Given the description of an element on the screen output the (x, y) to click on. 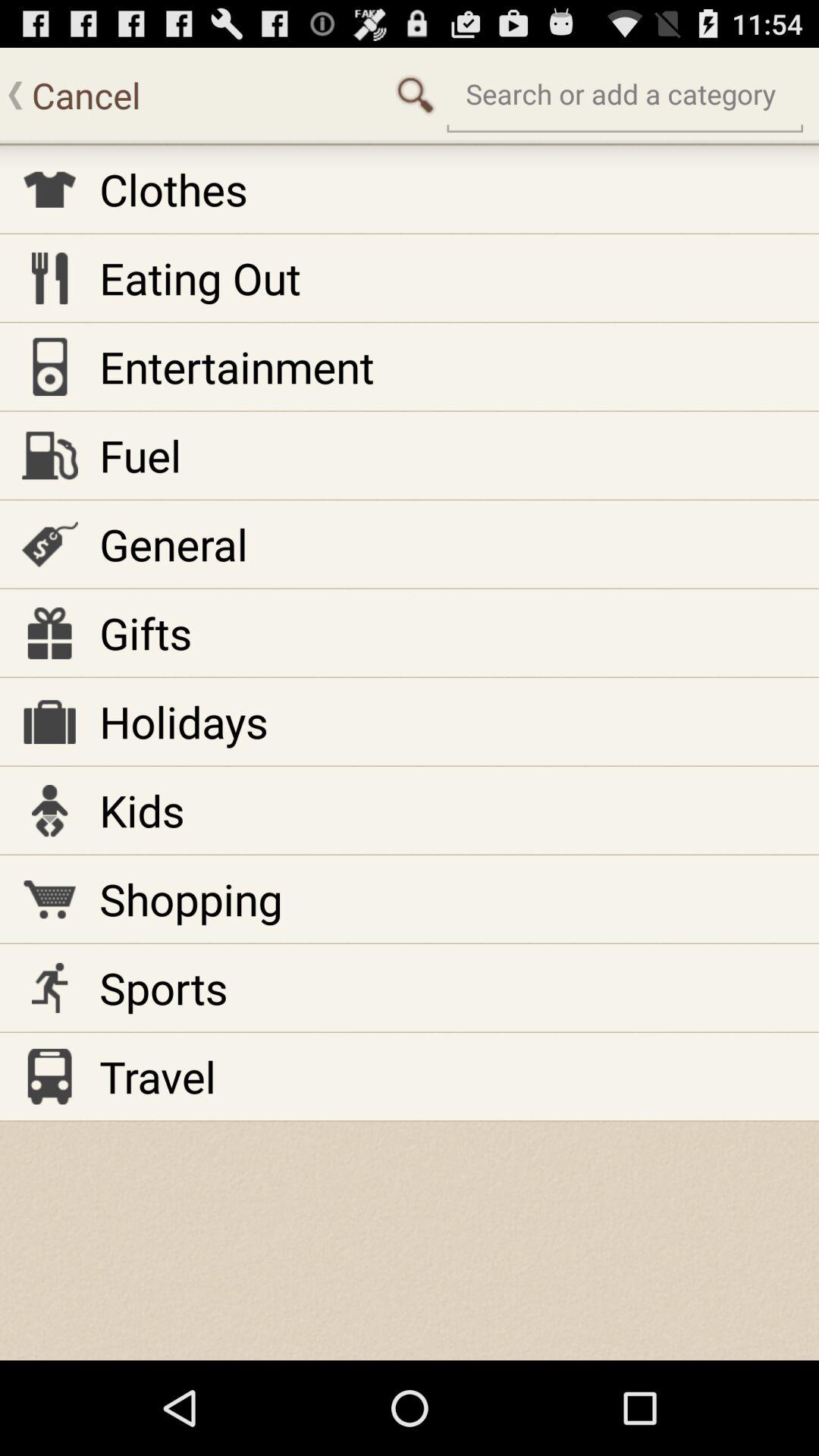
scroll until the general app (173, 544)
